Given the description of an element on the screen output the (x, y) to click on. 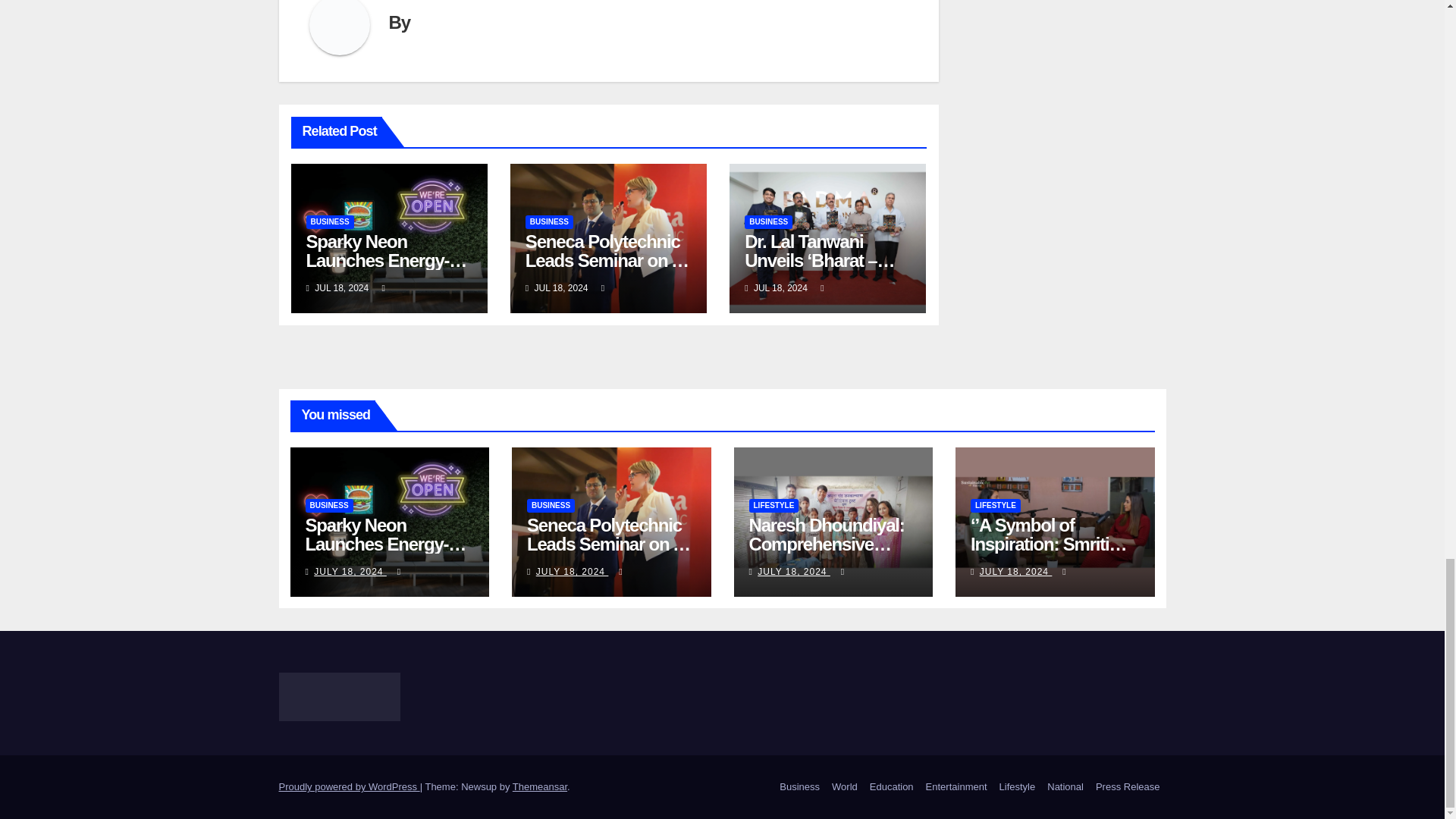
BUSINESS (549, 222)
BUSINESS (329, 222)
